Given the description of an element on the screen output the (x, y) to click on. 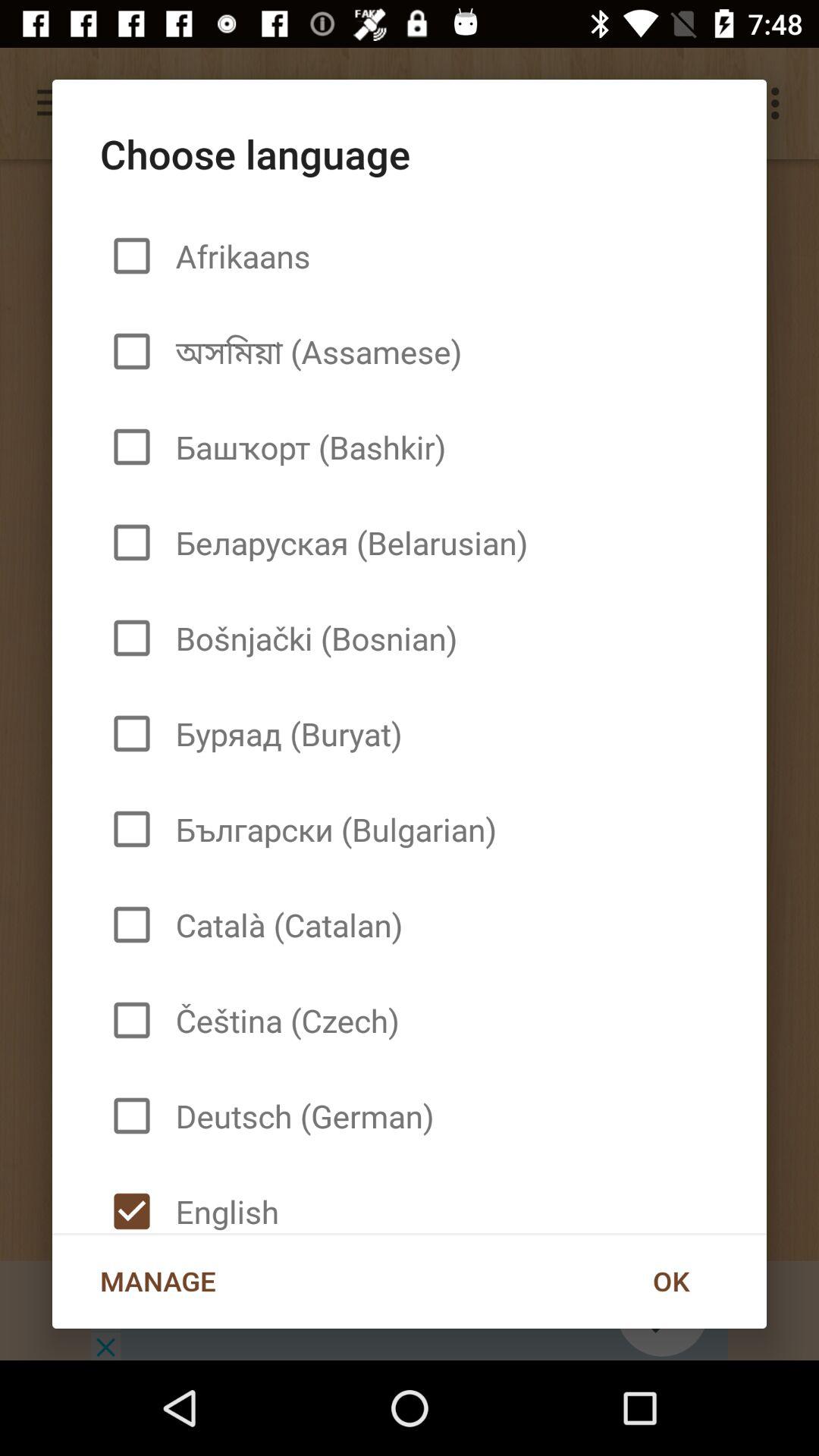
open ok (670, 1280)
